Given the description of an element on the screen output the (x, y) to click on. 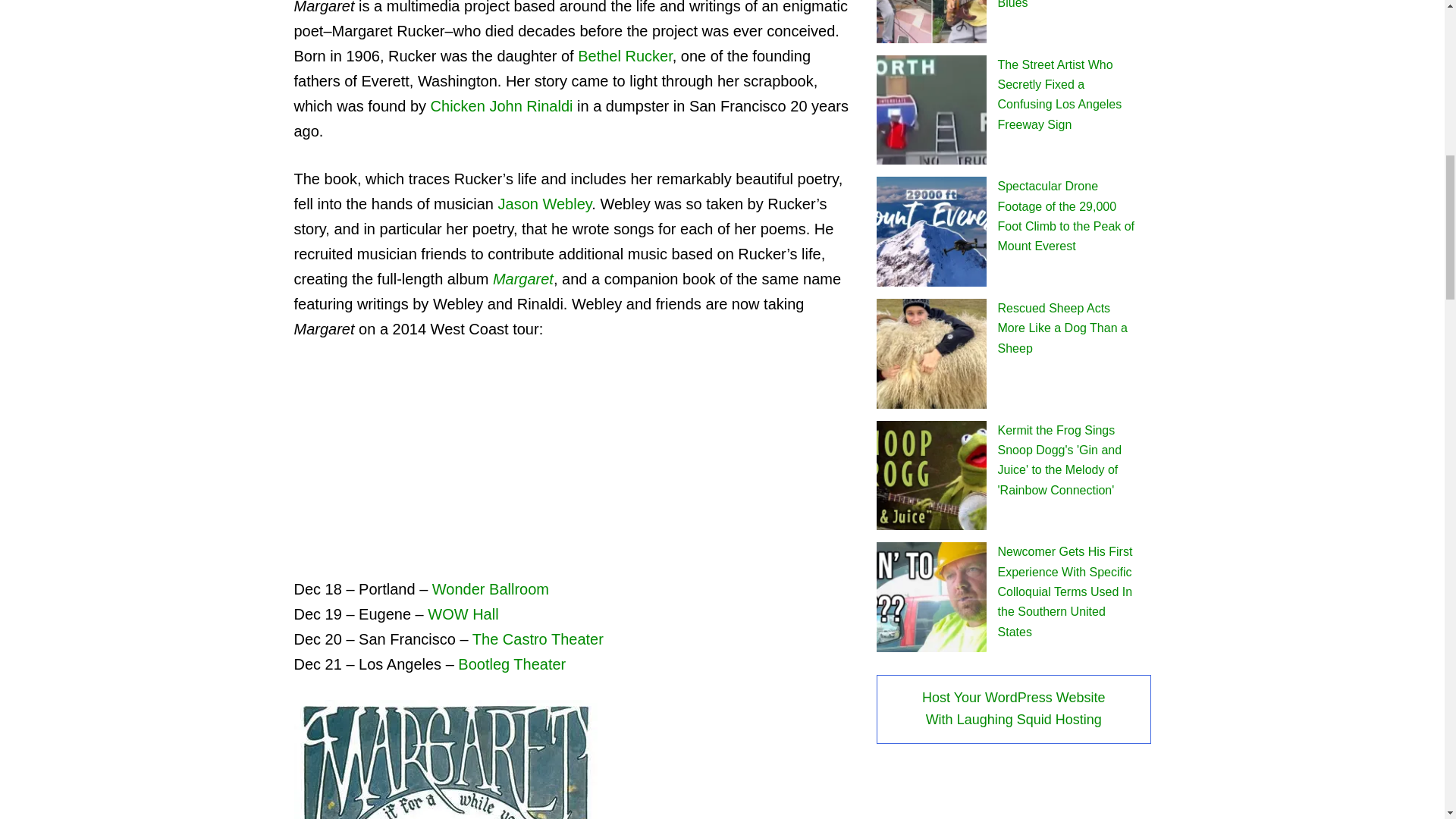
Jason Webley (544, 203)
Bethel Rucker (625, 55)
Chicken John Rinaldi (501, 105)
The Castro Theater (537, 638)
Margaret (523, 279)
WOW Hall (462, 614)
Wonder Ballroom (490, 588)
Bootleg Theater (512, 664)
